Given the description of an element on the screen output the (x, y) to click on. 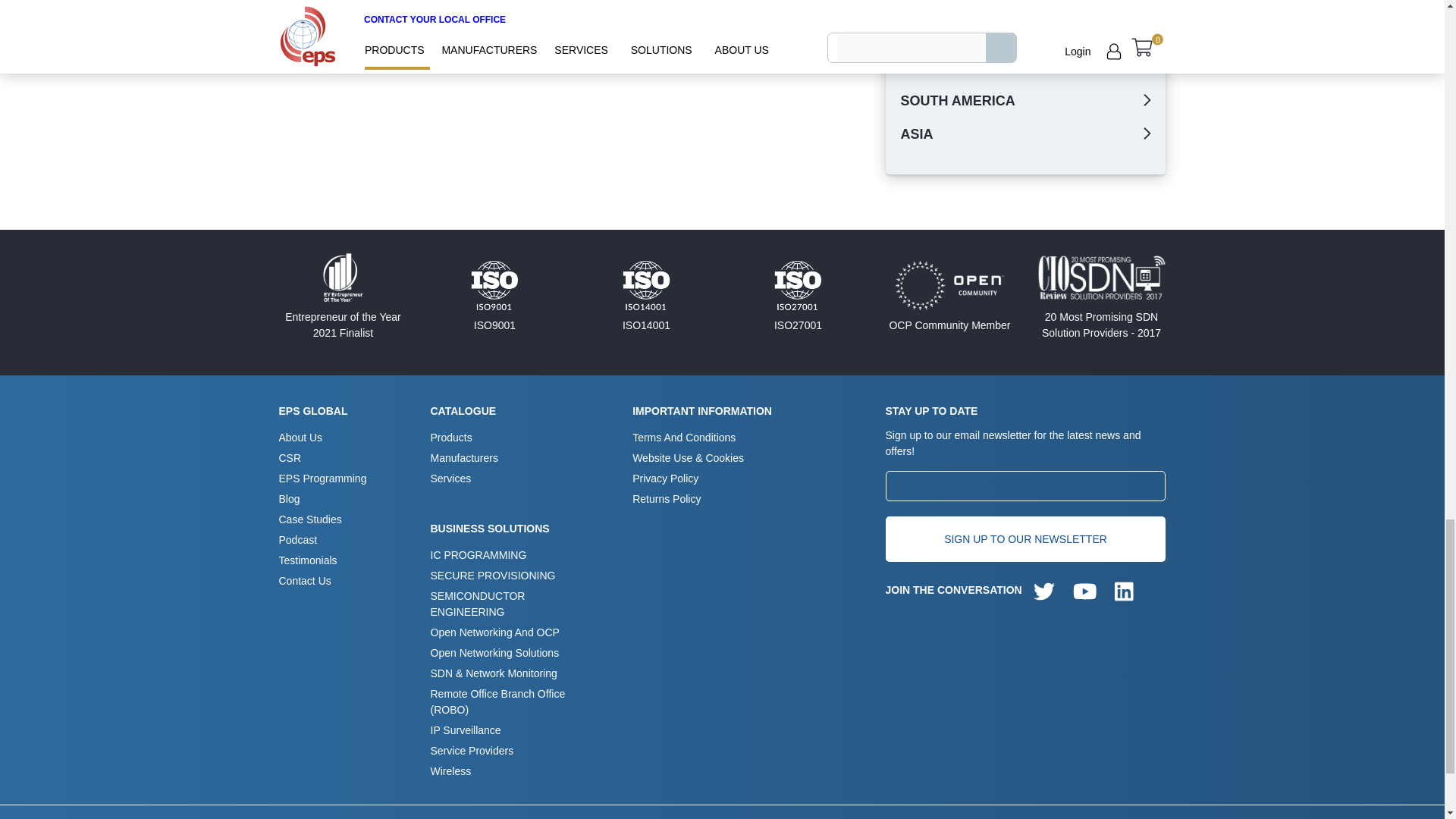
sign up to our newsletter (1025, 538)
